Given the description of an element on the screen output the (x, y) to click on. 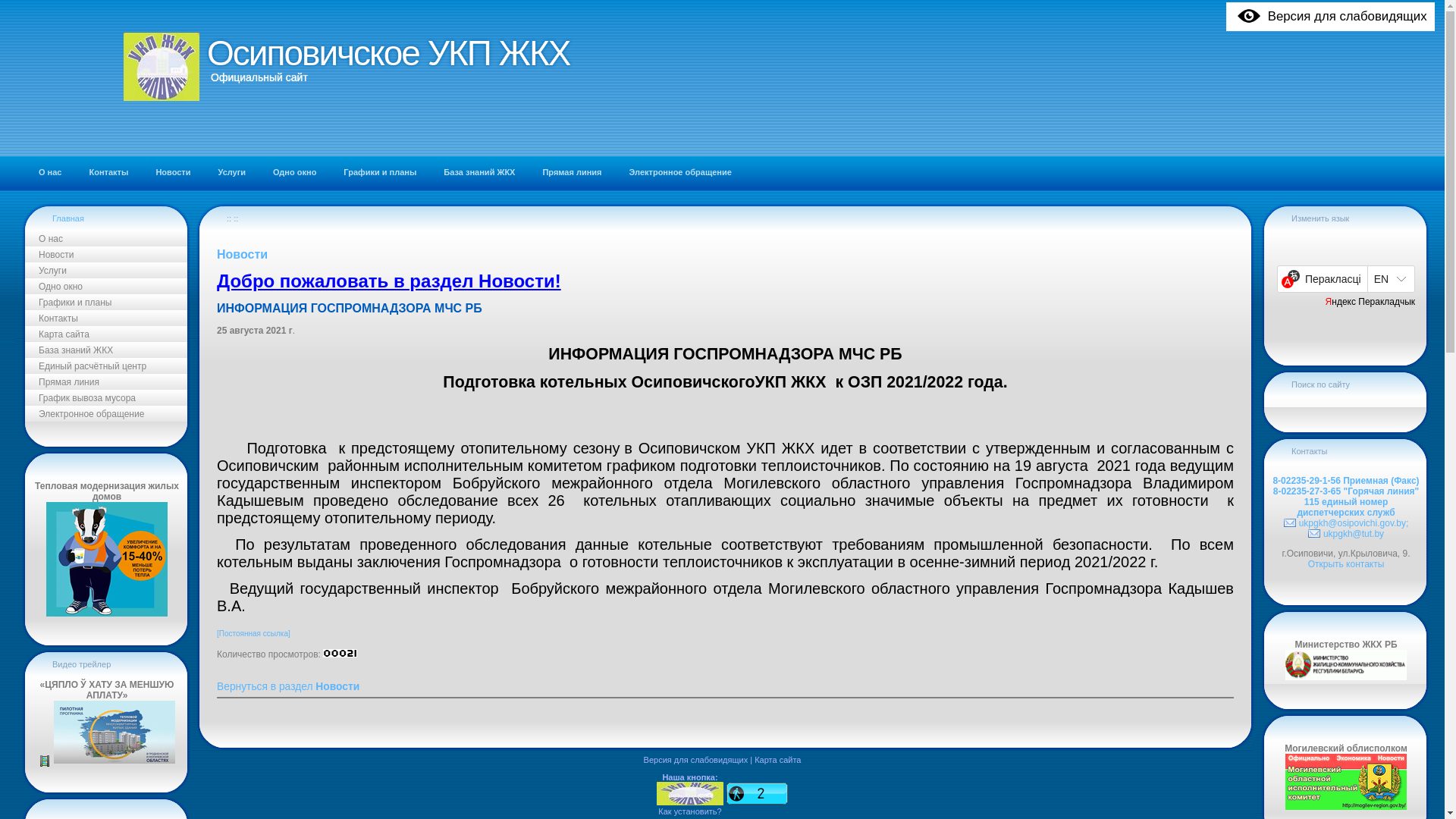
ukpgkh@osipovichi.gov.by; Element type: text (1345, 523)
Click to see what's popular on this site! Element type: hover (756, 793)
ukpgkh@tut.by Element type: text (1345, 533)
